Given the description of an element on the screen output the (x, y) to click on. 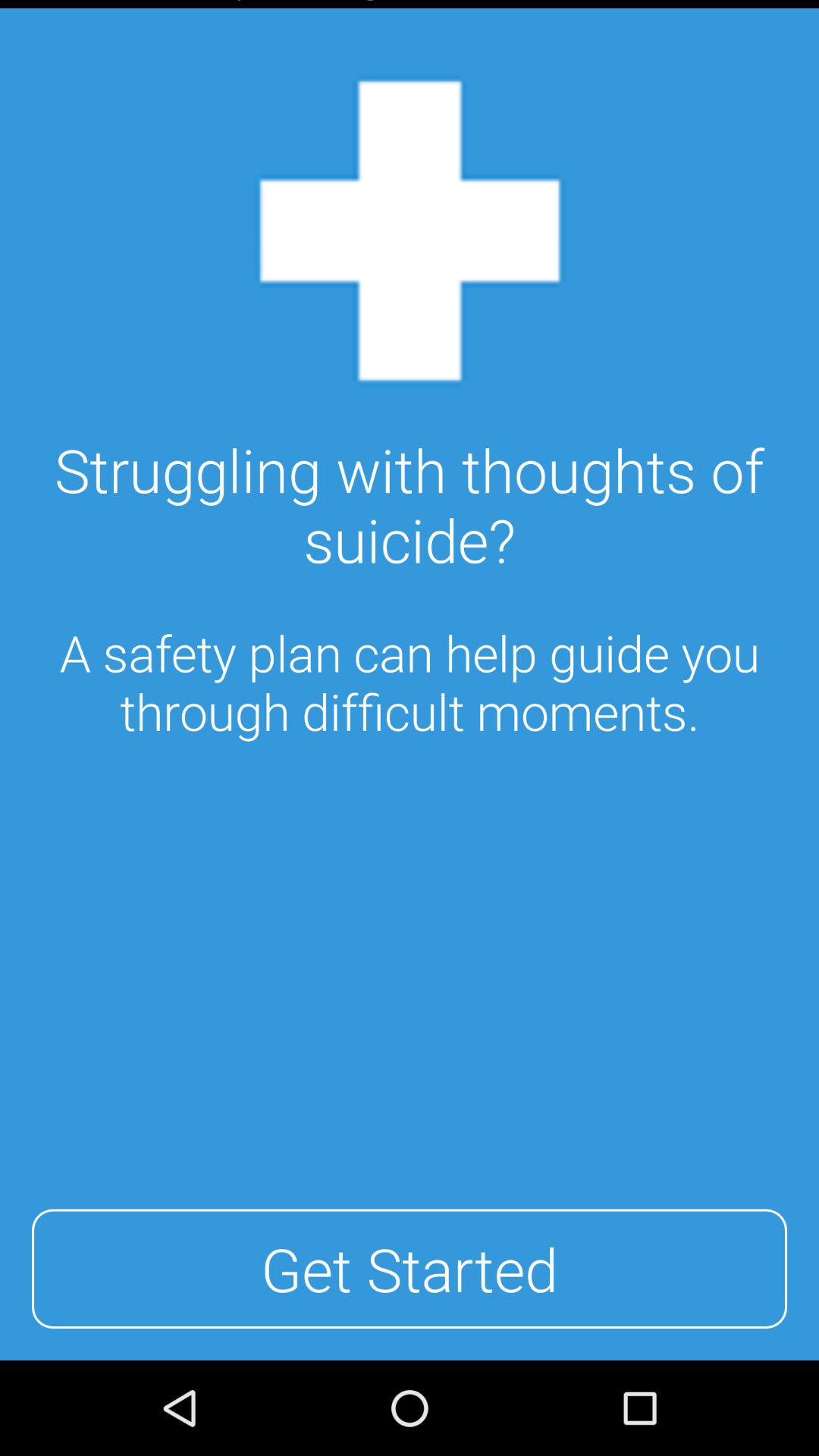
open get started button (409, 1268)
